Given the description of an element on the screen output the (x, y) to click on. 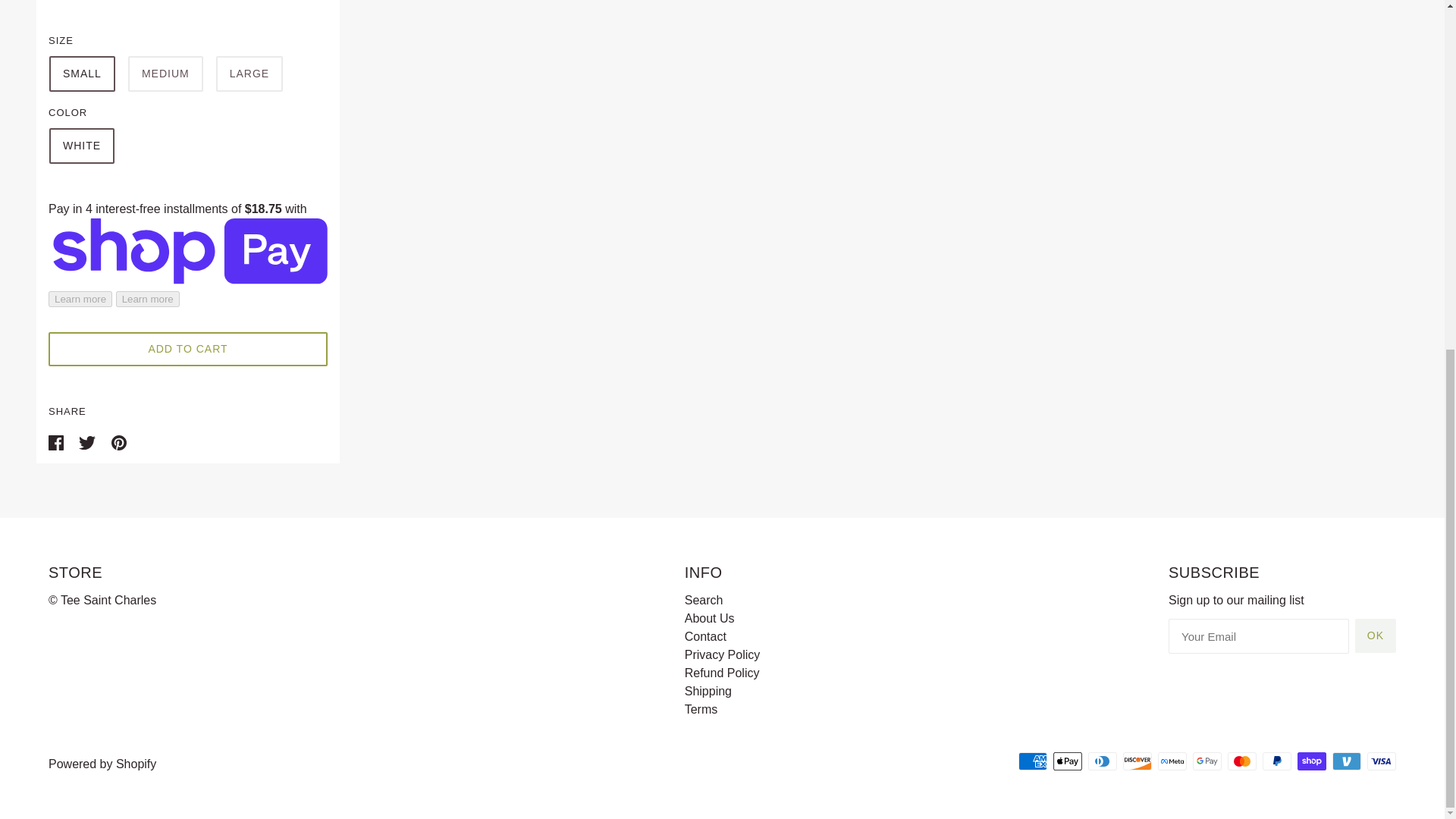
Venmo (1346, 761)
Contact (705, 635)
Apple Pay (1066, 761)
About Us (709, 617)
American Express (1031, 761)
PayPal (1276, 761)
Discover (1136, 761)
Privacy Policy (722, 654)
ADD TO CART (187, 349)
Google Pay (1206, 761)
About Us (709, 617)
Meta Pay (1171, 761)
Mastercard (1241, 761)
Visa (1381, 761)
Terms (700, 708)
